Given the description of an element on the screen output the (x, y) to click on. 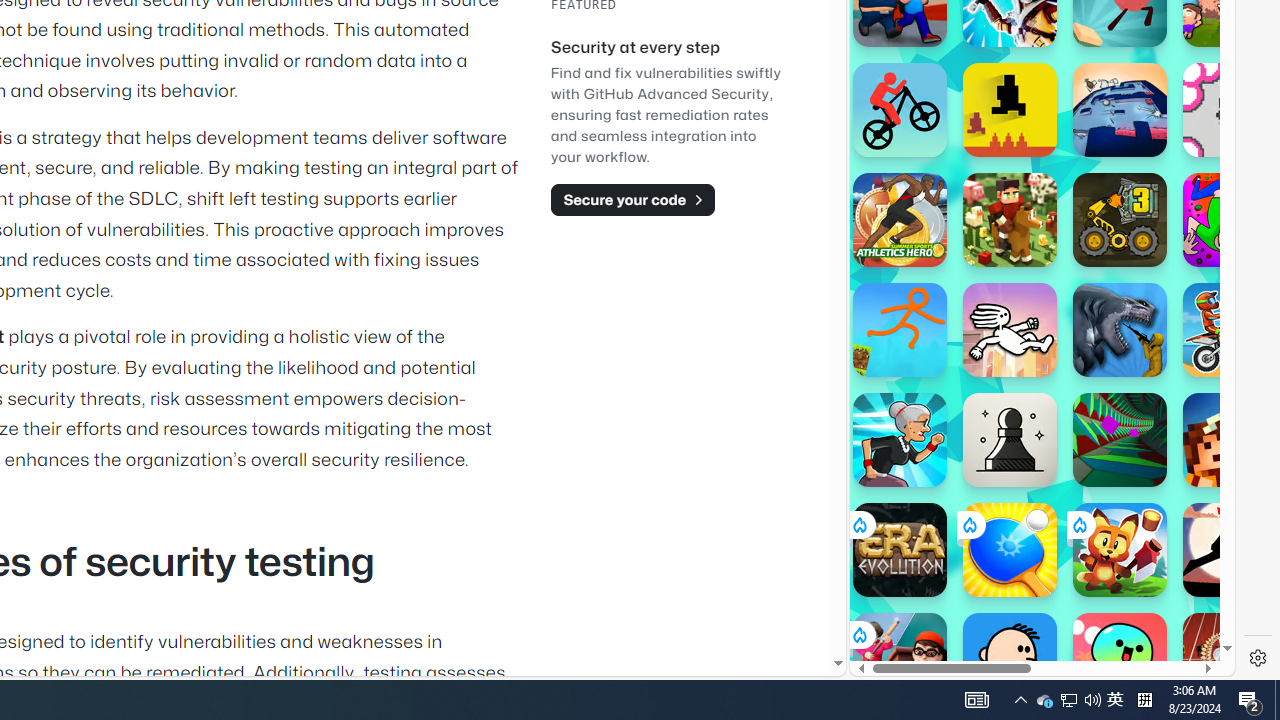
Angry Gran Run (899, 439)
Moto X3M (1229, 329)
Hills of Steel (943, 200)
Stickman Bike Stickman Bike (899, 109)
Classic Chess (1009, 439)
Poki (1034, 606)
Hills of Steel (925, 290)
Hills of Steel (943, 300)
Apple Knight: Farmers Market (1009, 219)
Crazy Cars (1217, 290)
Blumgi Slime Blumgi Slime (1119, 659)
School Escape! (899, 659)
Moto X3M Moto X3M (1229, 329)
Classic Chess Classic Chess (1009, 439)
Secure your code (632, 199)
